Given the description of an element on the screen output the (x, y) to click on. 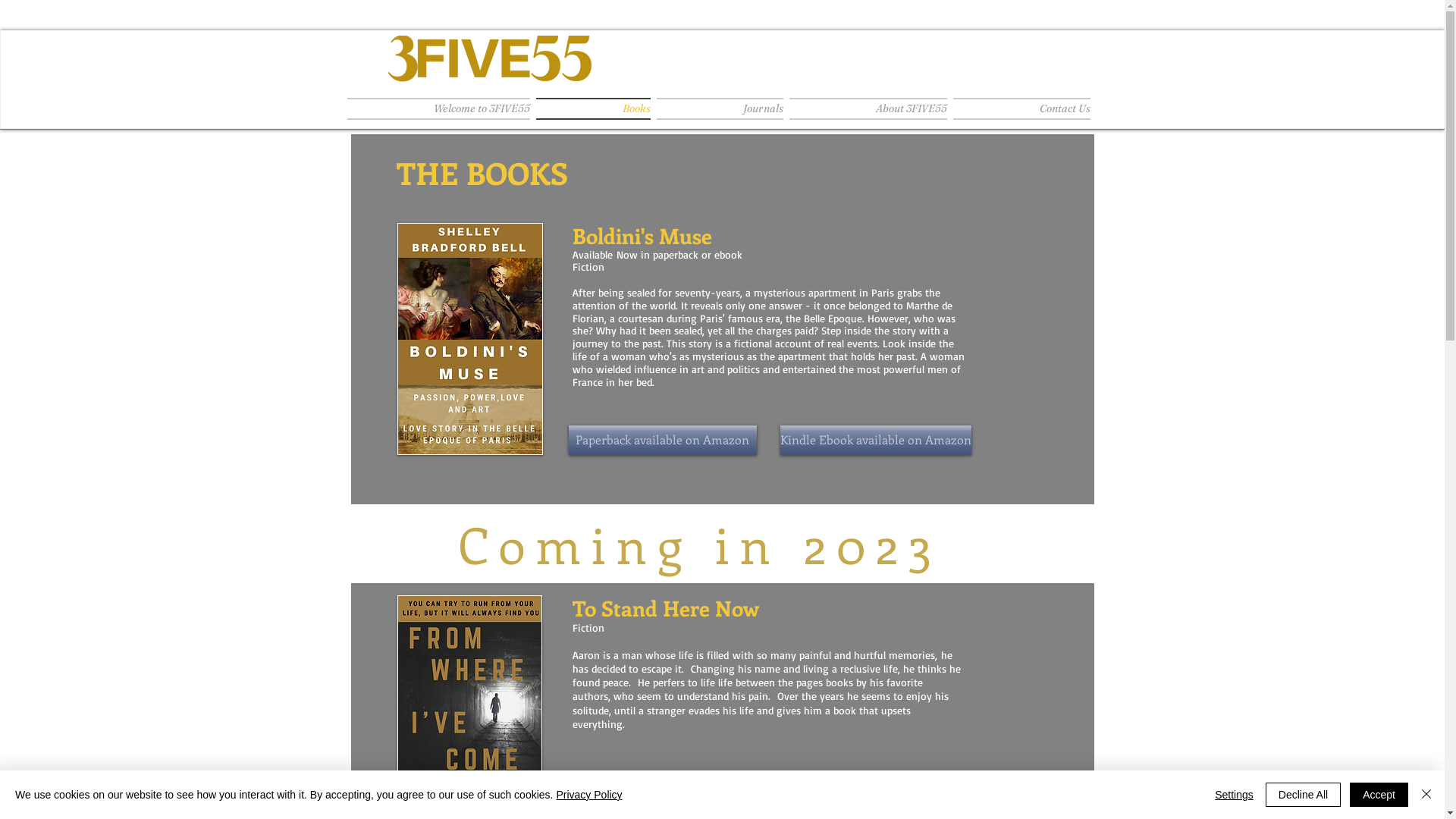
Paperback available on Amazon Element type: text (662, 440)
Contact Us Element type: text (1019, 108)
Decline All Element type: text (1302, 794)
Books Element type: text (592, 108)
Accept Element type: text (1378, 794)
Welcome to 3FIVE55 Element type: text (440, 108)
Journals Element type: text (719, 108)
About 3FIVE55 Element type: text (867, 108)
Privacy Policy Element type: text (588, 794)
Kindle Ebook available on Amazon Element type: text (874, 440)
